Given the description of an element on the screen output the (x, y) to click on. 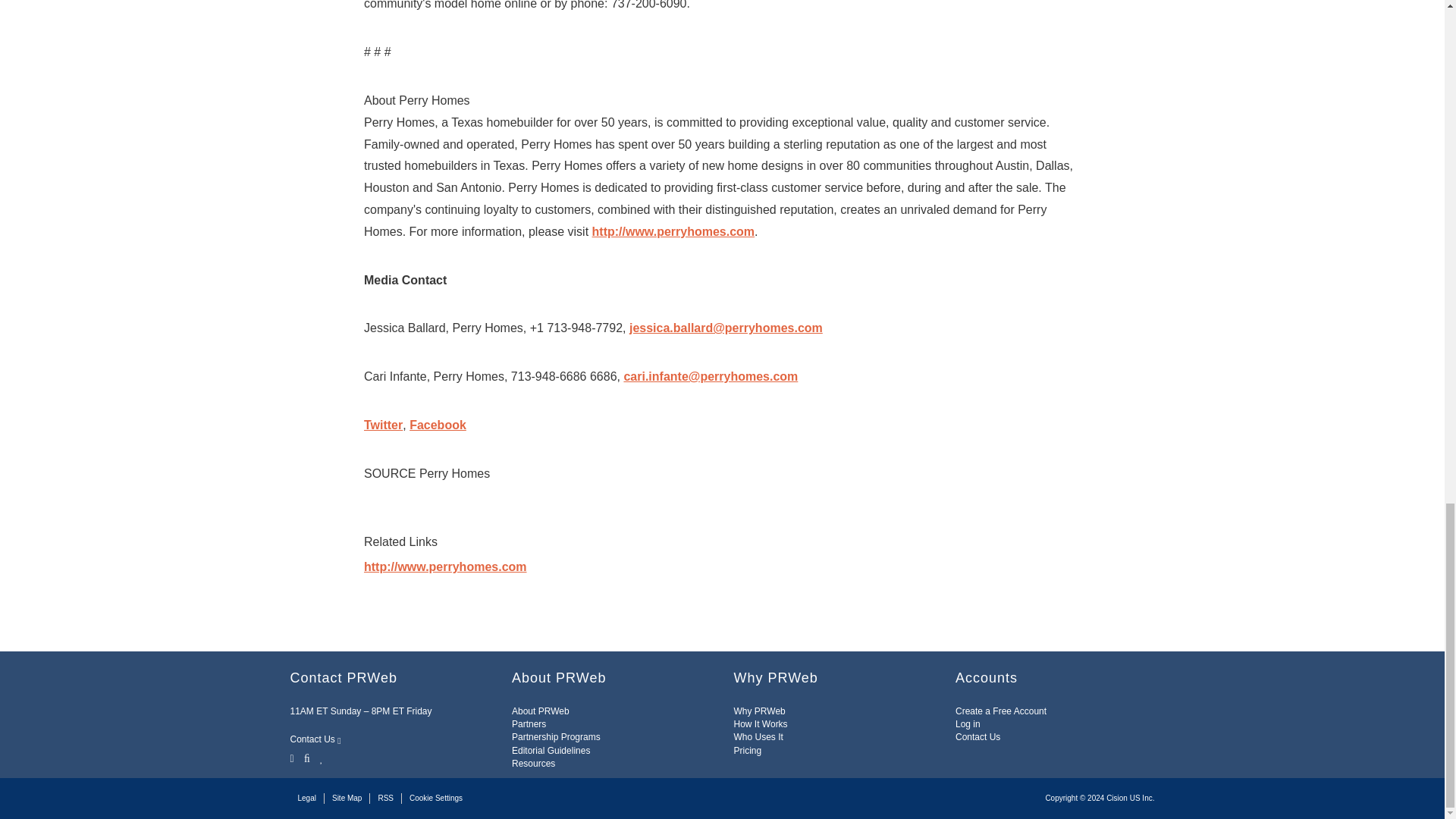
Resources (533, 763)
Facebook (306, 757)
About PRWeb (540, 710)
How It Works (760, 724)
Why PRWeb (759, 710)
Partnership Programs (555, 737)
Partners (529, 724)
Editorial Guidelines (550, 750)
